Given the description of an element on the screen output the (x, y) to click on. 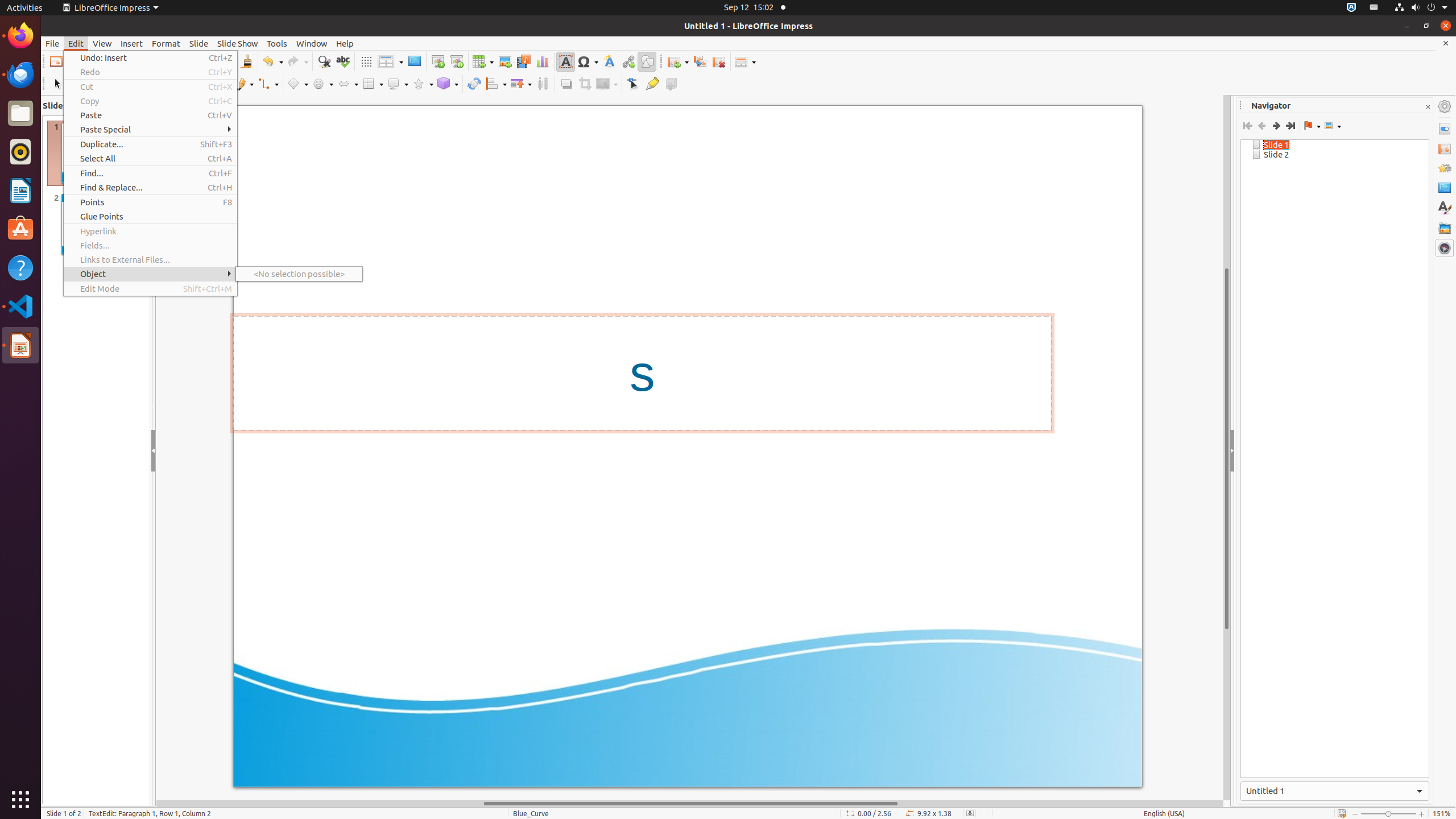
LibreOffice Impress Element type: menu (109, 7)
Select All Element type: menu-item (150, 158)
Slide Show Element type: menu (237, 43)
